Given the description of an element on the screen output the (x, y) to click on. 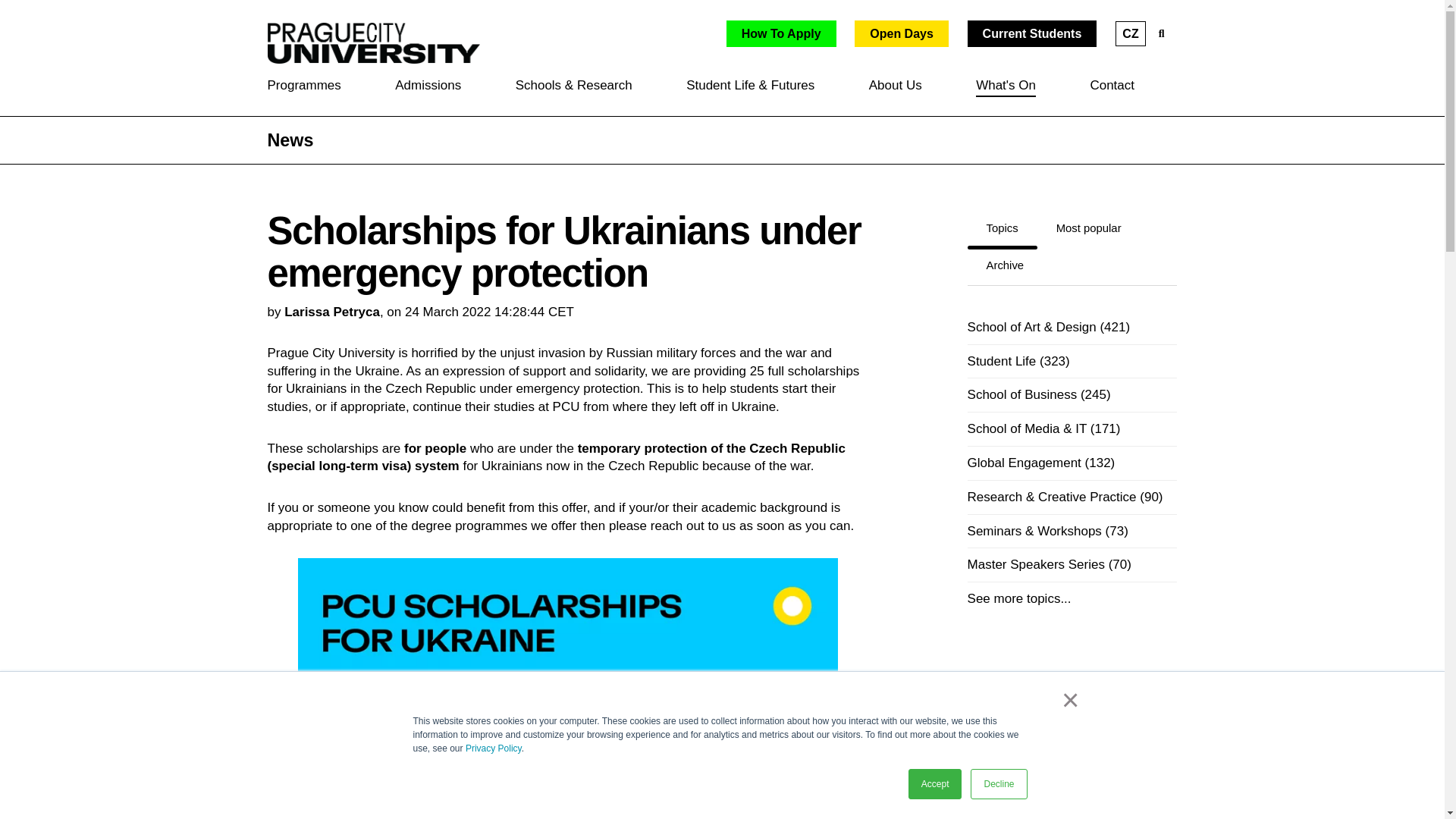
Programmes (303, 85)
Decline (998, 784)
Admissions (901, 33)
Privacy Policy (1032, 33)
Accept (427, 85)
